Given the description of an element on the screen output the (x, y) to click on. 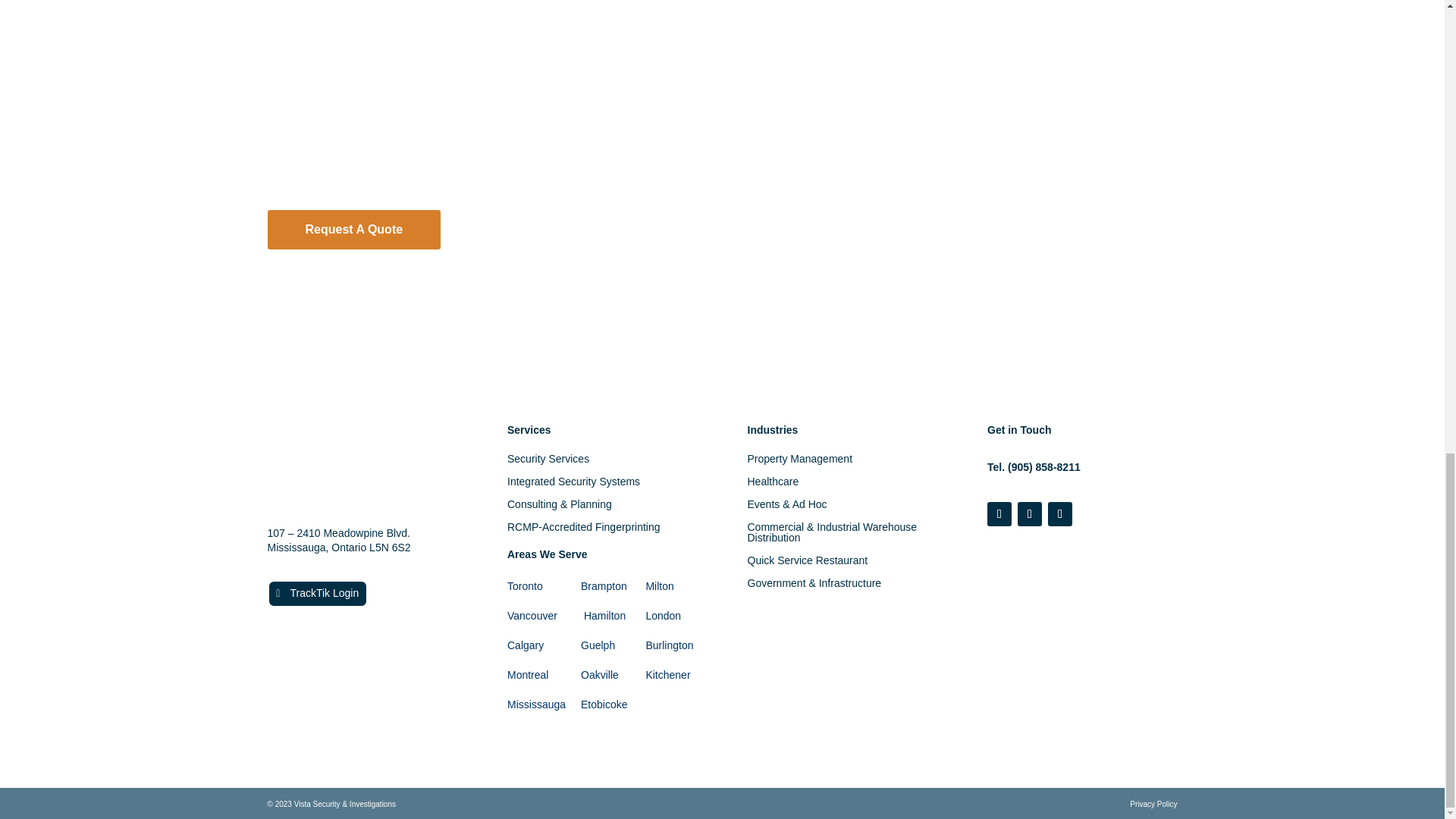
Follow on LinkedIn (1059, 514)
Follow on Instagram (1029, 514)
Follow on Facebook (999, 514)
